Given the description of an element on the screen output the (x, y) to click on. 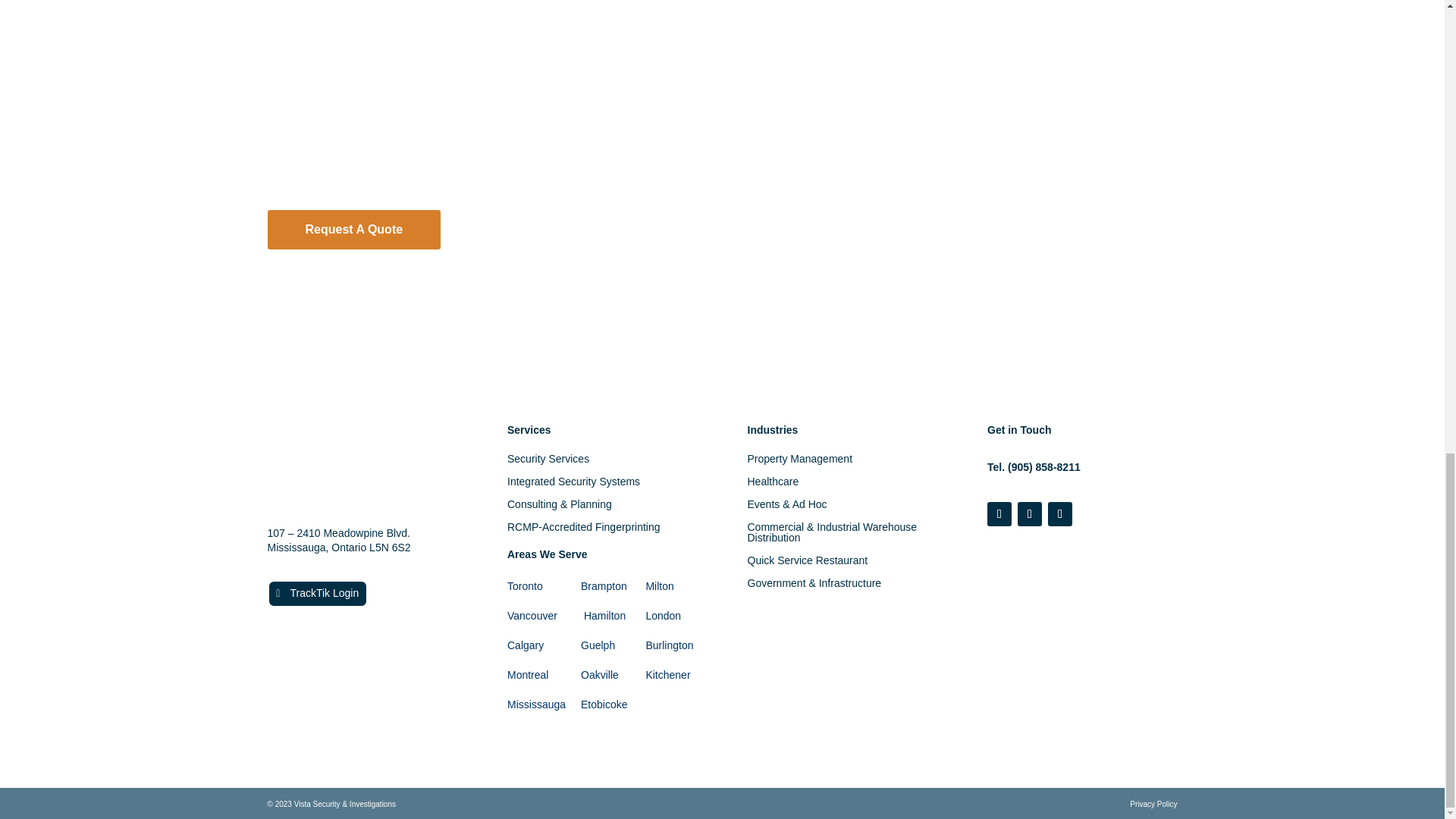
Follow on LinkedIn (1059, 514)
Follow on Instagram (1029, 514)
Follow on Facebook (999, 514)
